Given the description of an element on the screen output the (x, y) to click on. 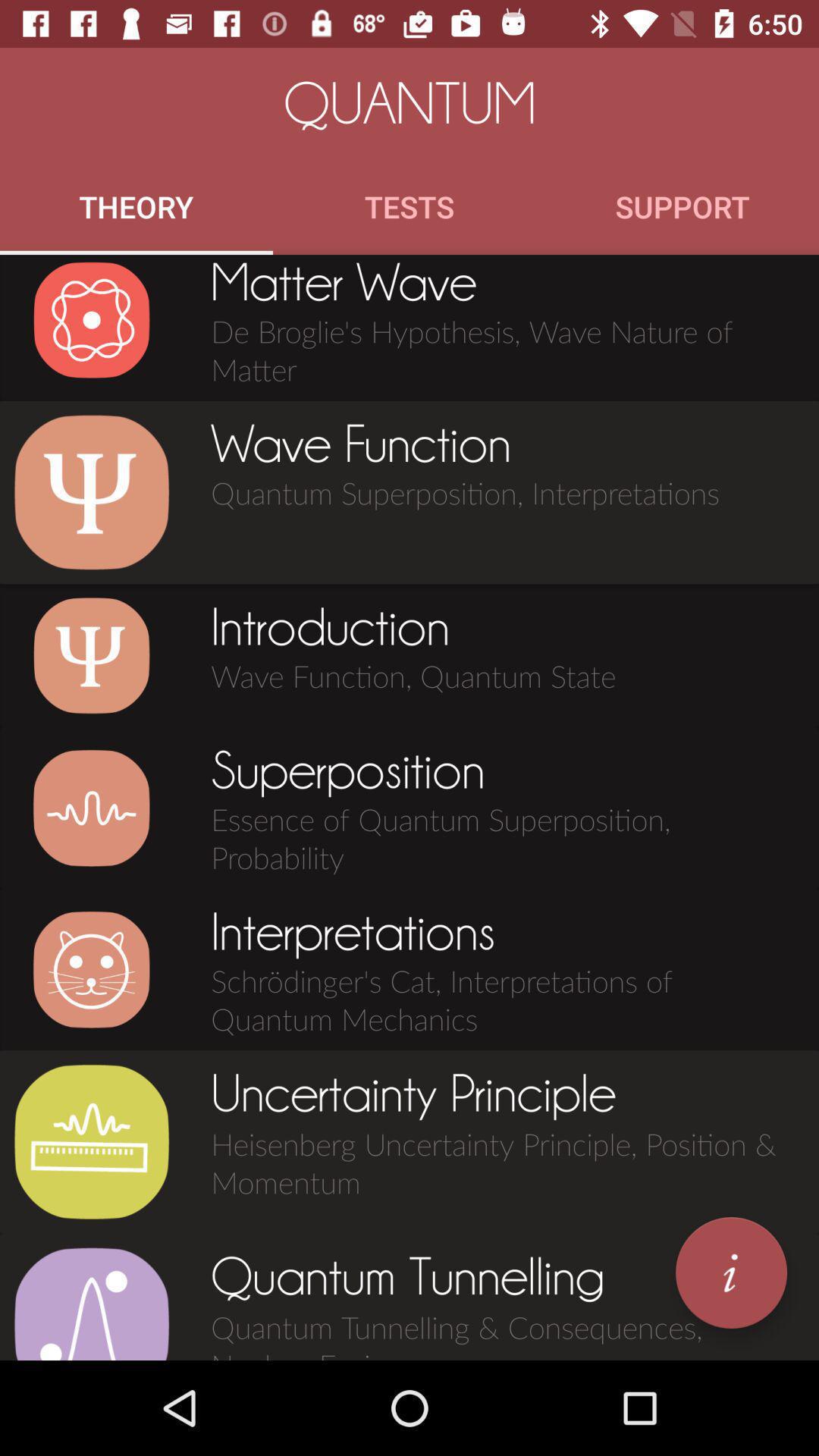
click to see introduction (91, 655)
